Given the description of an element on the screen output the (x, y) to click on. 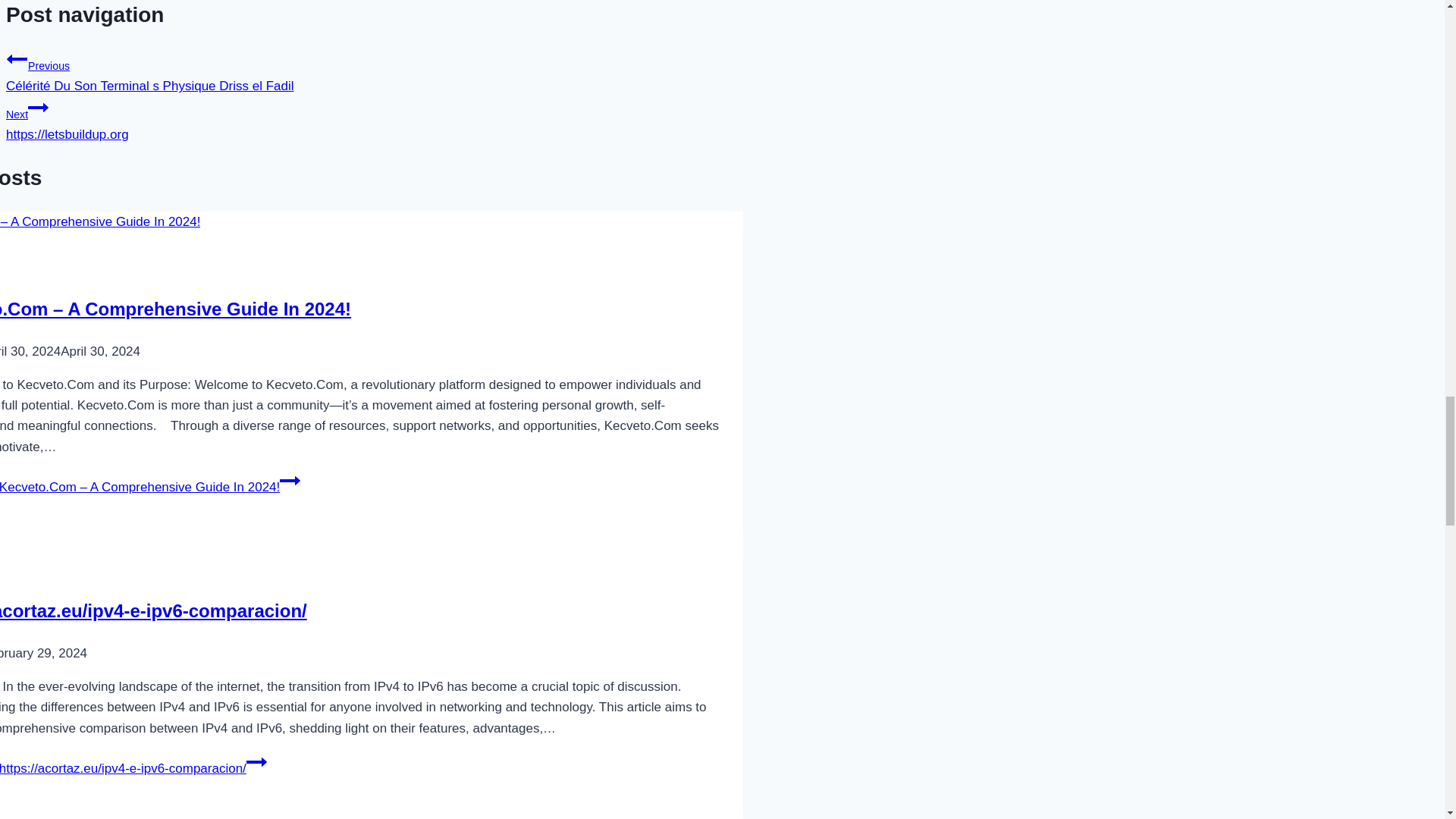
Continue (289, 480)
Previous (16, 58)
Continue (256, 762)
Continue (37, 107)
